Given the description of an element on the screen output the (x, y) to click on. 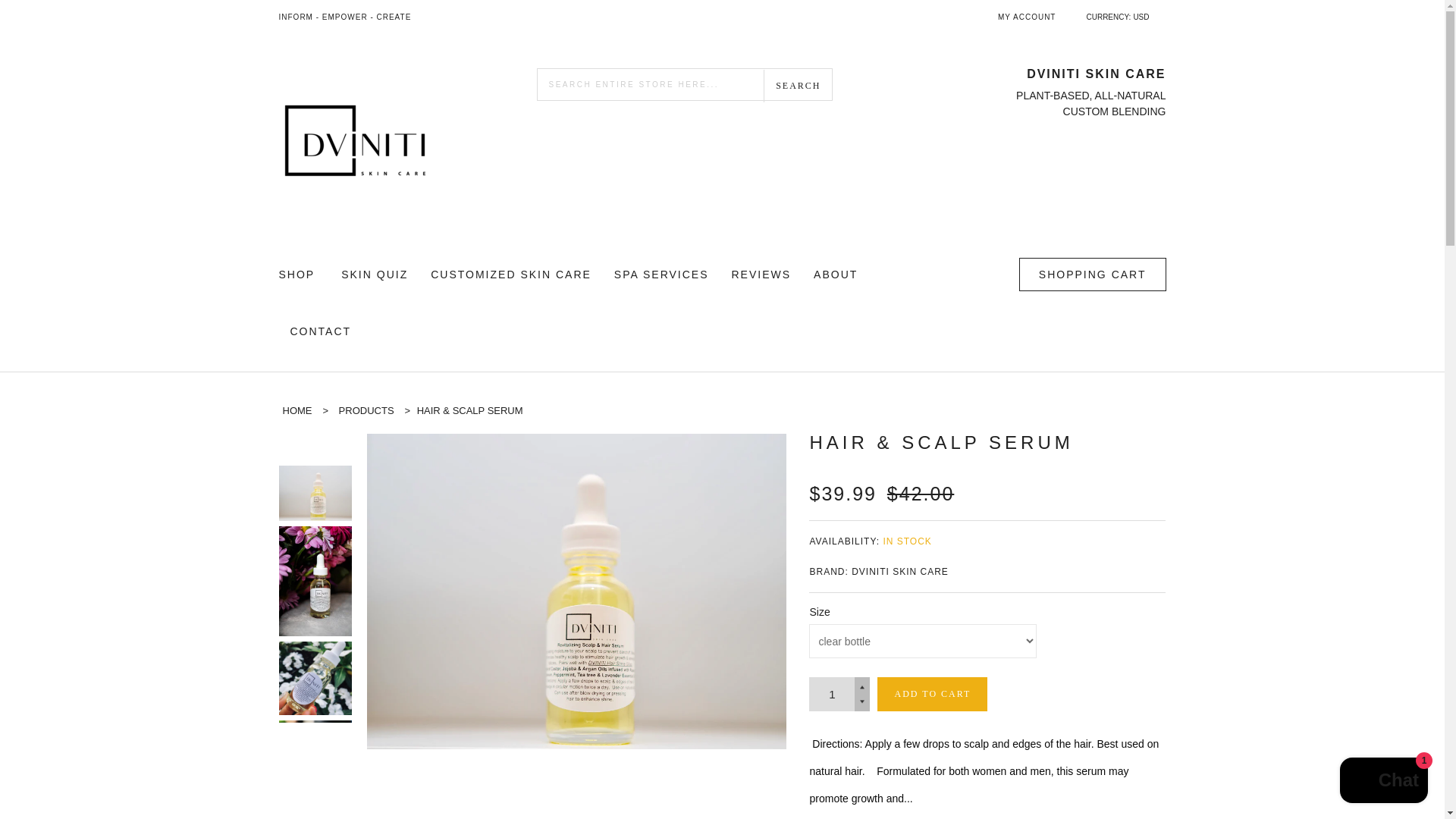
All Products (366, 410)
Search (796, 85)
USD (1140, 17)
Add to Cart (932, 694)
DVINITI Skin Care (296, 410)
Qty (831, 694)
View contents of your shopping cart (1092, 274)
1 (831, 694)
SEARCH (796, 85)
